Given the description of an element on the screen output the (x, y) to click on. 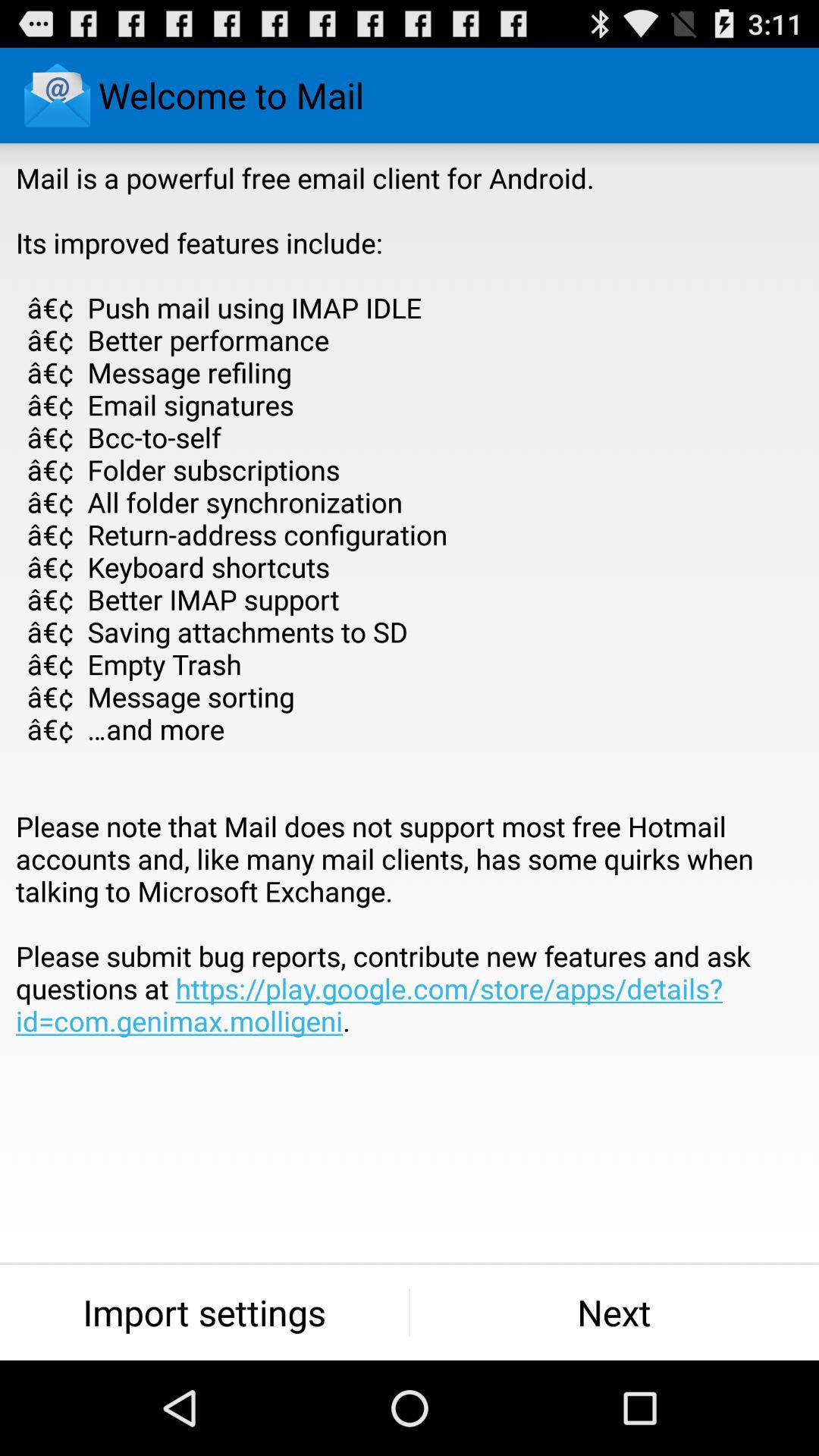
tap icon next to the import settings (614, 1312)
